Given the description of an element on the screen output the (x, y) to click on. 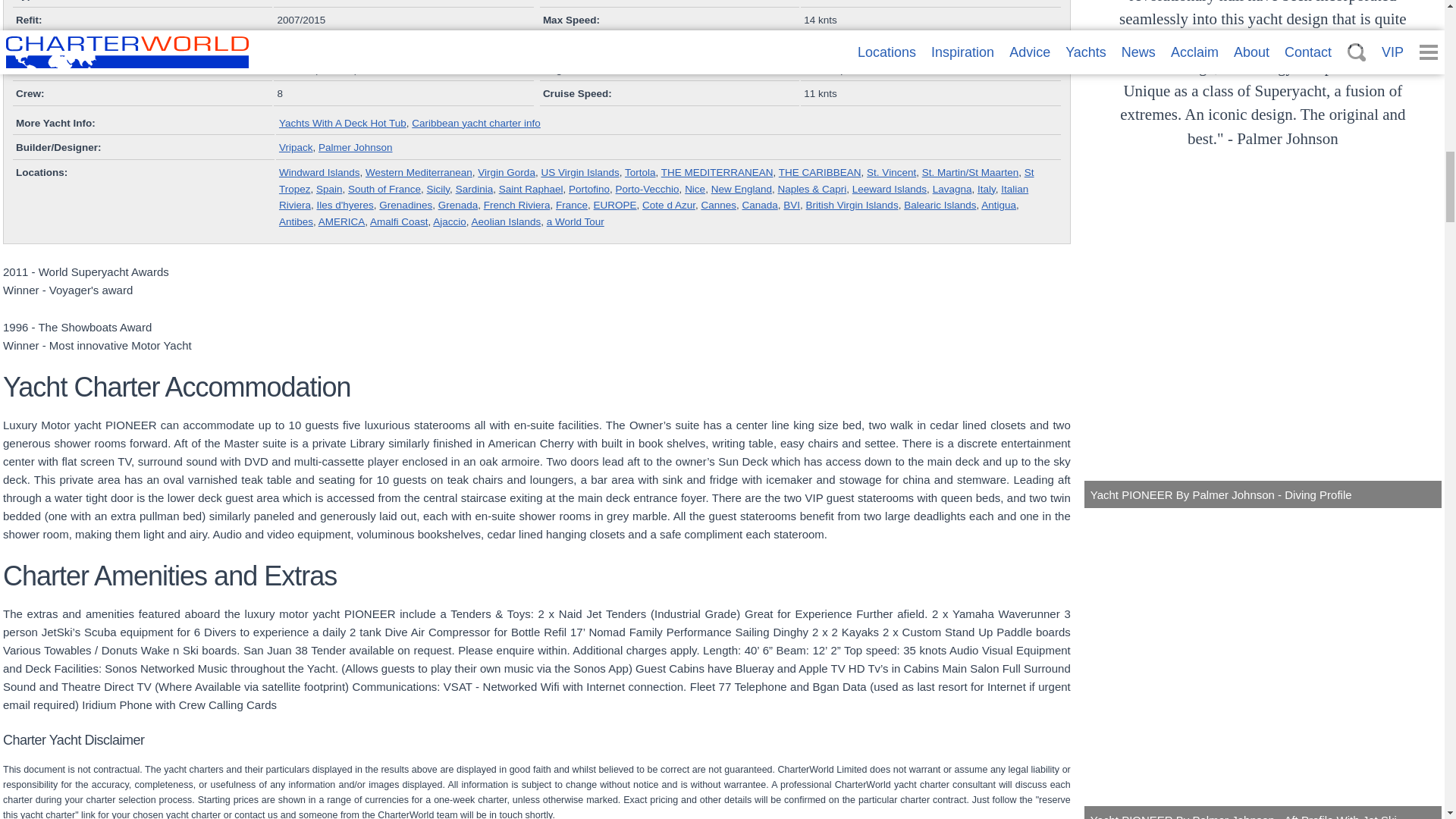
Caribbean yacht charter info (476, 122)
US Virgin Islands (579, 172)
Yacht PIONEER By Palmer Johnson - Diving Profile (1262, 346)
Vripack (296, 147)
THE MEDITERRANEAN (717, 172)
Yacht PIONEER By Palmer Johnson - Aft Profile With Jet Ski (1262, 665)
Western Mediterranean (418, 172)
St Tropez (656, 180)
THE CARIBBEAN (819, 172)
Windward Islands (319, 172)
Palmer Johnson (355, 147)
Tortola (640, 172)
Yachts With A Deck Hot Tub (342, 122)
Virgin Gorda (506, 172)
St. Vincent (890, 172)
